Given the description of an element on the screen output the (x, y) to click on. 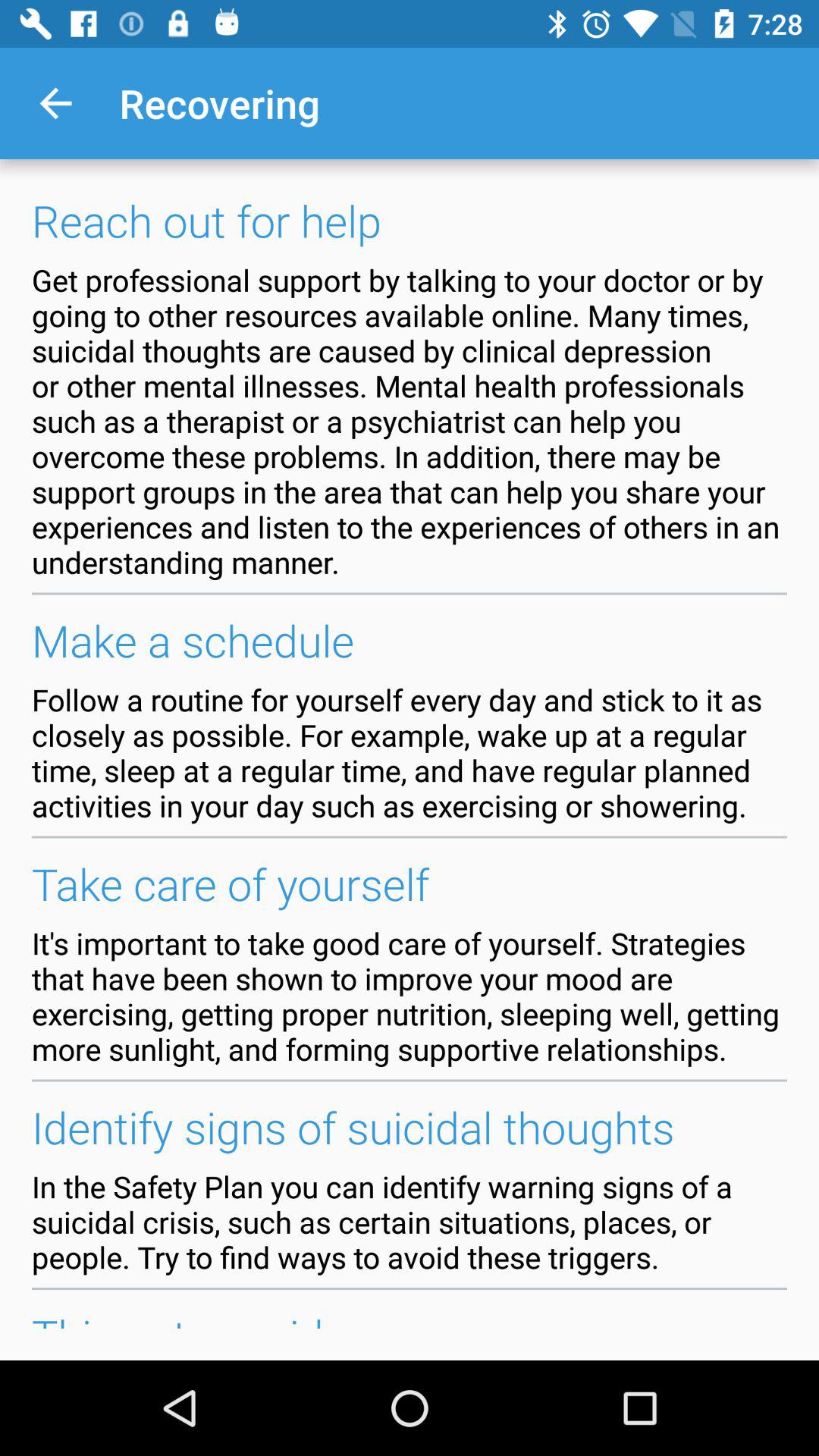
turn off the app to the left of the recovering item (55, 103)
